Given the description of an element on the screen output the (x, y) to click on. 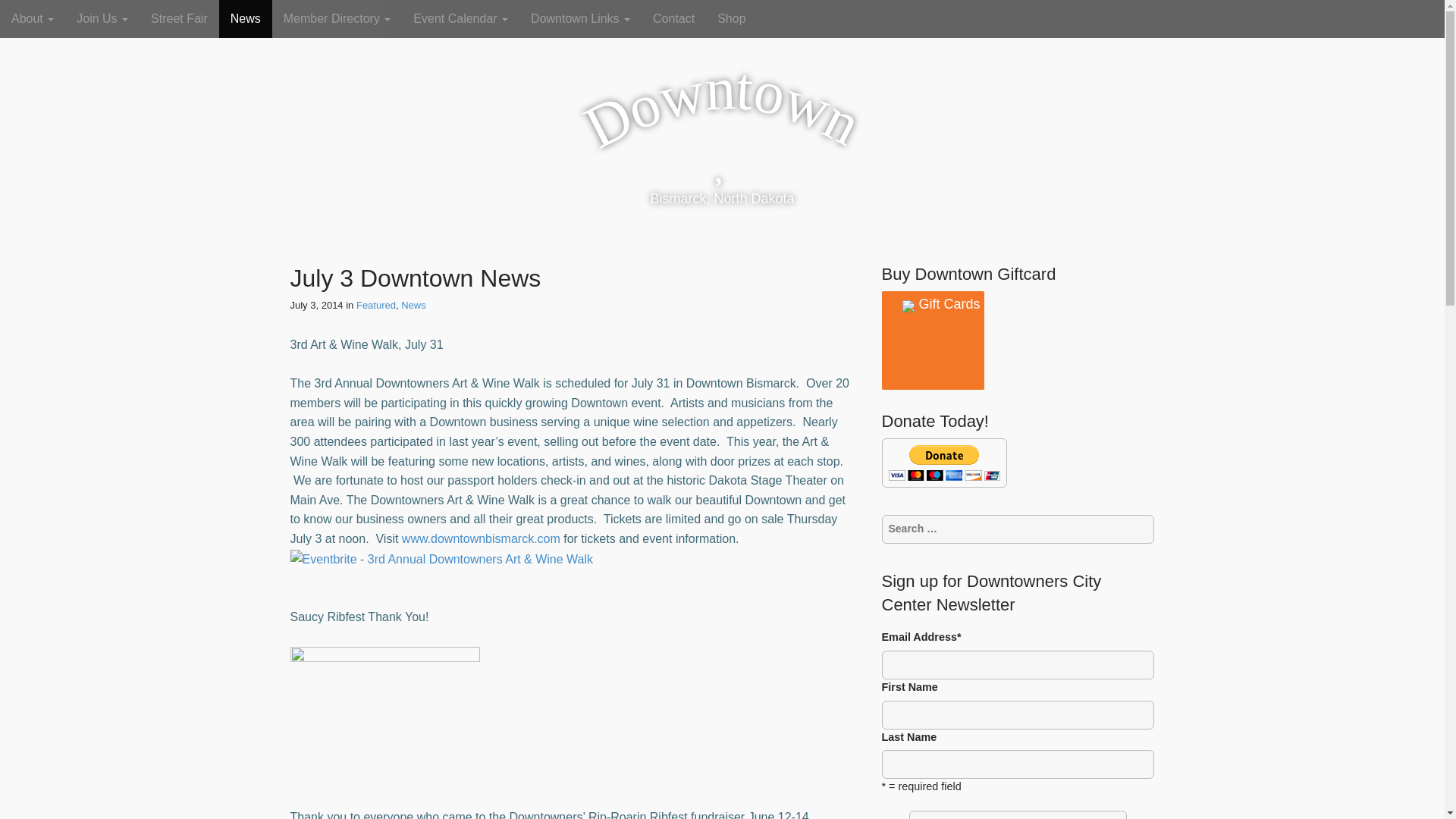
PayPal - The safer, easier way to pay online! (943, 462)
Downtown Links (580, 18)
Subscribe (1017, 814)
Featured (376, 305)
Street Fair (179, 18)
Contact (674, 18)
www.downtownbismarck.com (480, 538)
News (245, 18)
About (32, 18)
Member Directory (337, 18)
News (413, 305)
July 3, 2014 (315, 305)
Join Us (102, 18)
Event Calendar (460, 18)
Shop (731, 18)
